Given the description of an element on the screen output the (x, y) to click on. 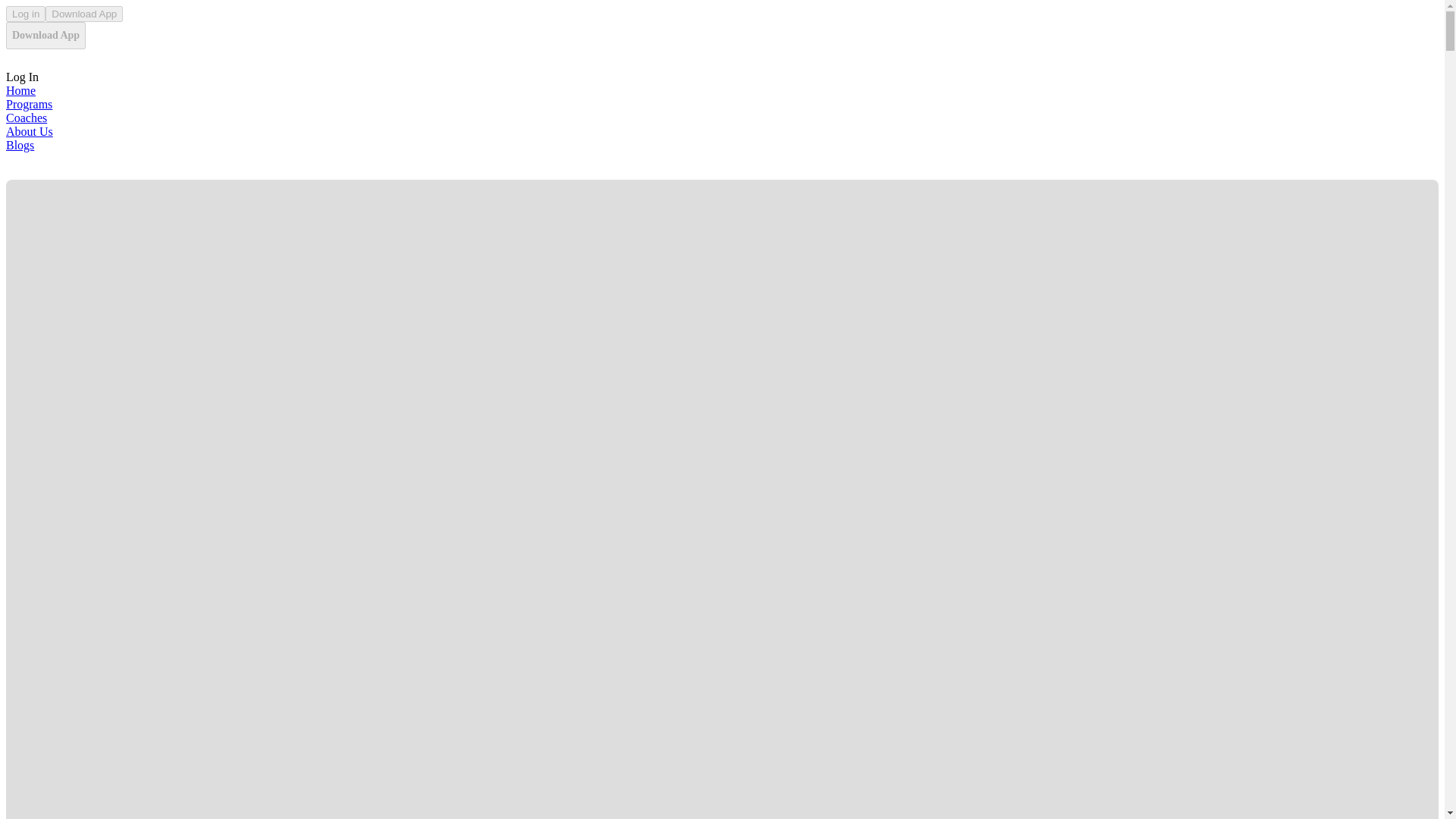
Programs (28, 103)
Download App (83, 13)
Blogs (19, 144)
Download App (45, 35)
About Us (28, 131)
Home (19, 90)
Log in (25, 13)
Coaches (25, 117)
Log In (22, 76)
